Given the description of an element on the screen output the (x, y) to click on. 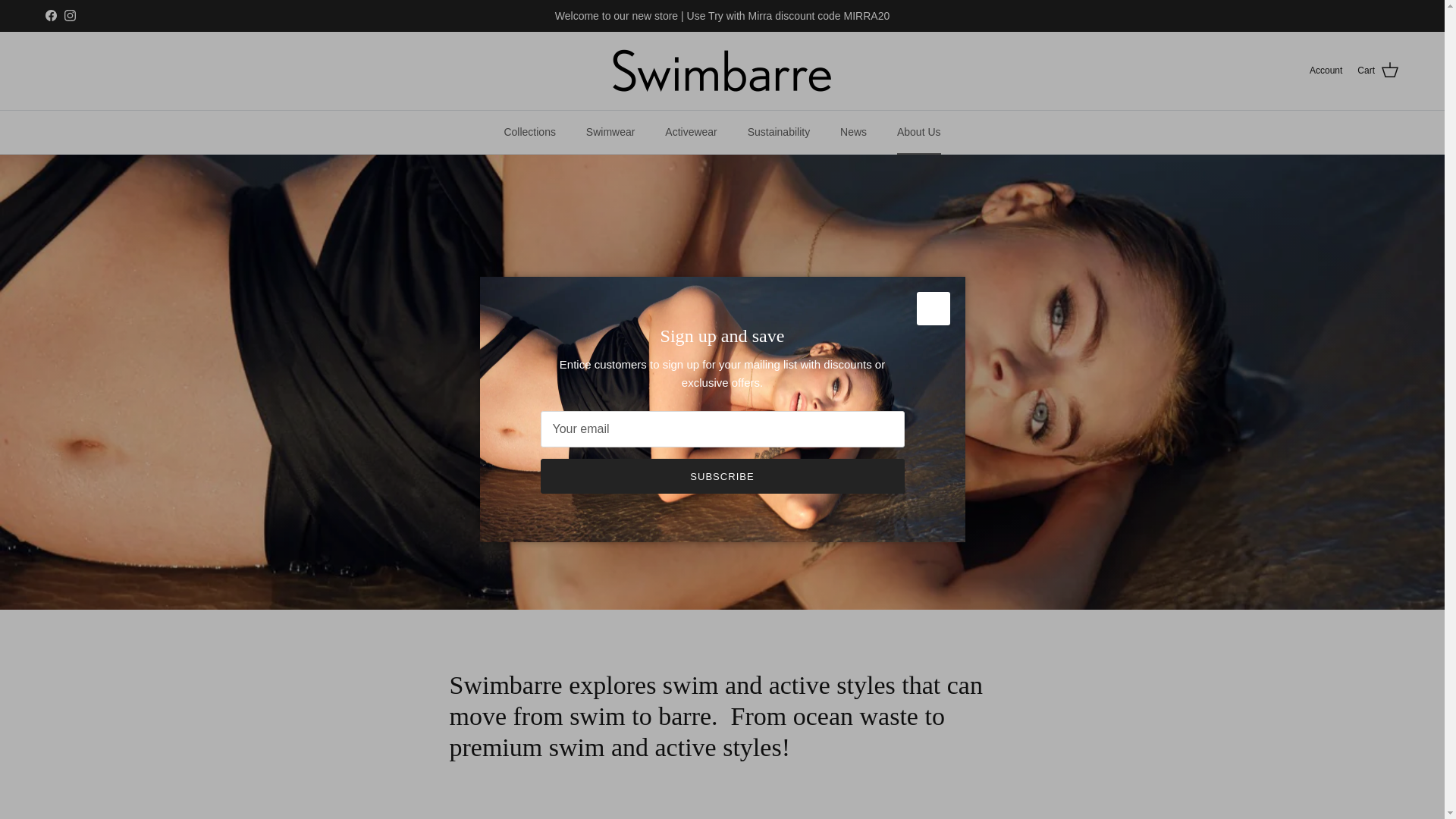
Swimwear (610, 131)
Collections (529, 131)
Swimbarre (722, 70)
Account (1325, 70)
Activewear (690, 131)
Facebook (50, 15)
Instagram (69, 15)
Swimbarre on Facebook (50, 15)
Swimbarre on Instagram (69, 15)
About Us (919, 131)
Sustainability (778, 131)
News (853, 131)
Cart (1377, 70)
